Given the description of an element on the screen output the (x, y) to click on. 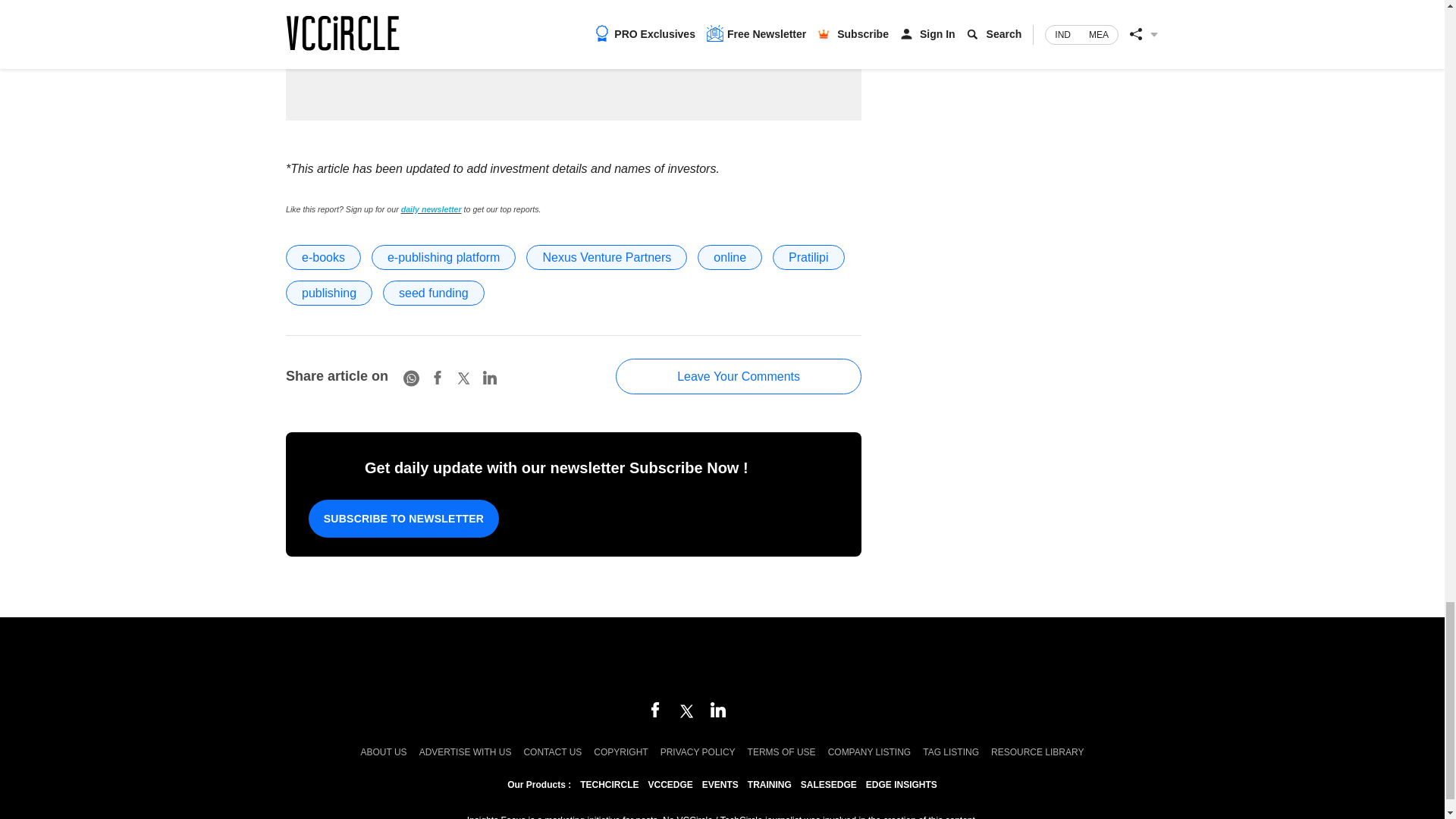
seed funding (433, 292)
Nexus Venture Partners (606, 257)
daily newsletter (431, 208)
publishing (328, 292)
Pratilipi (808, 257)
online (729, 257)
e-books (323, 257)
Mosaic Digital (721, 661)
Leave Your Comments (738, 375)
e-publishing platform (443, 257)
SUBSCRIBE TO NEWSLETTER (403, 518)
